Given the description of an element on the screen output the (x, y) to click on. 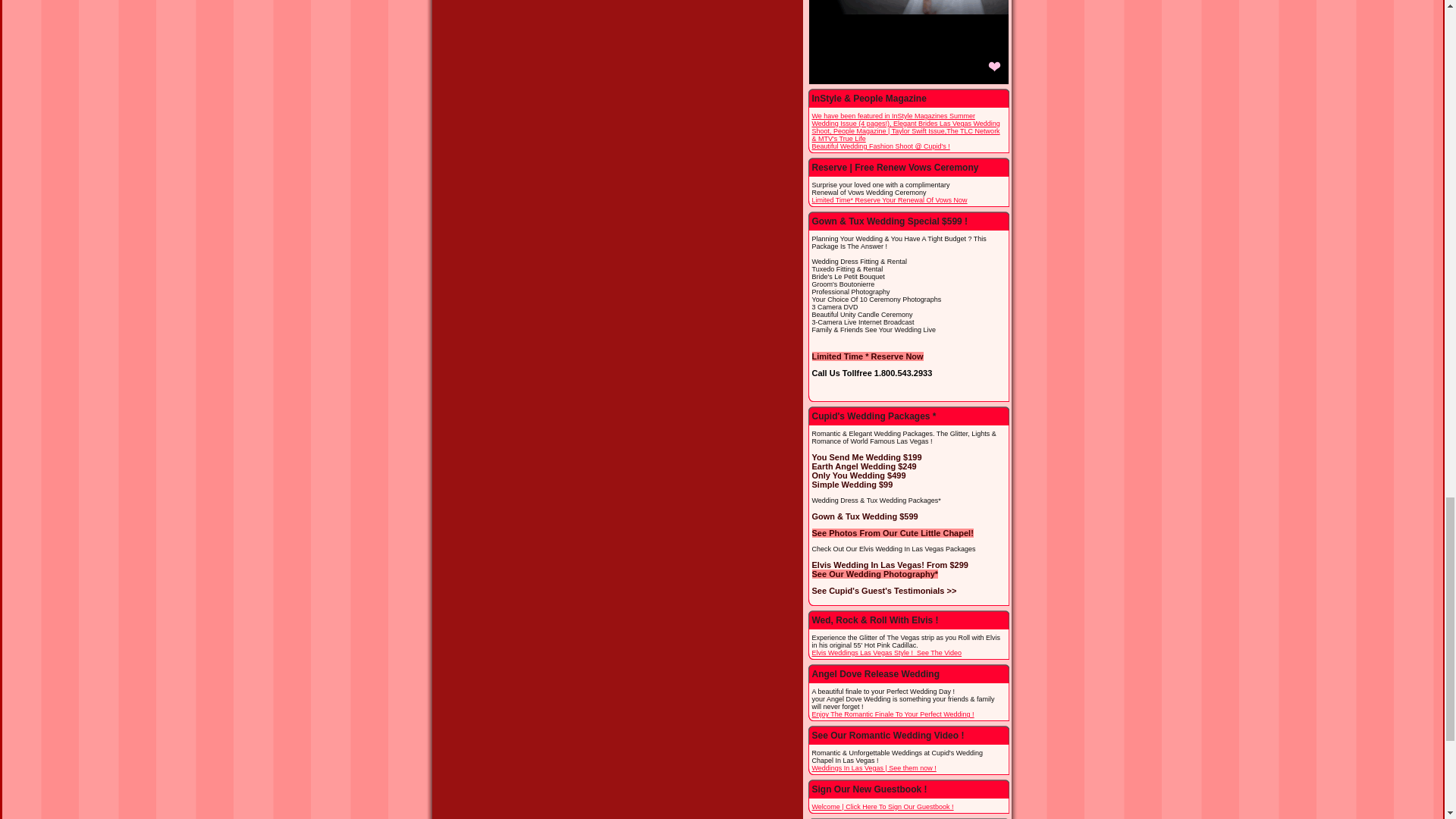
Las Vegas Weddings pix (879, 145)
